Given the description of an element on the screen output the (x, y) to click on. 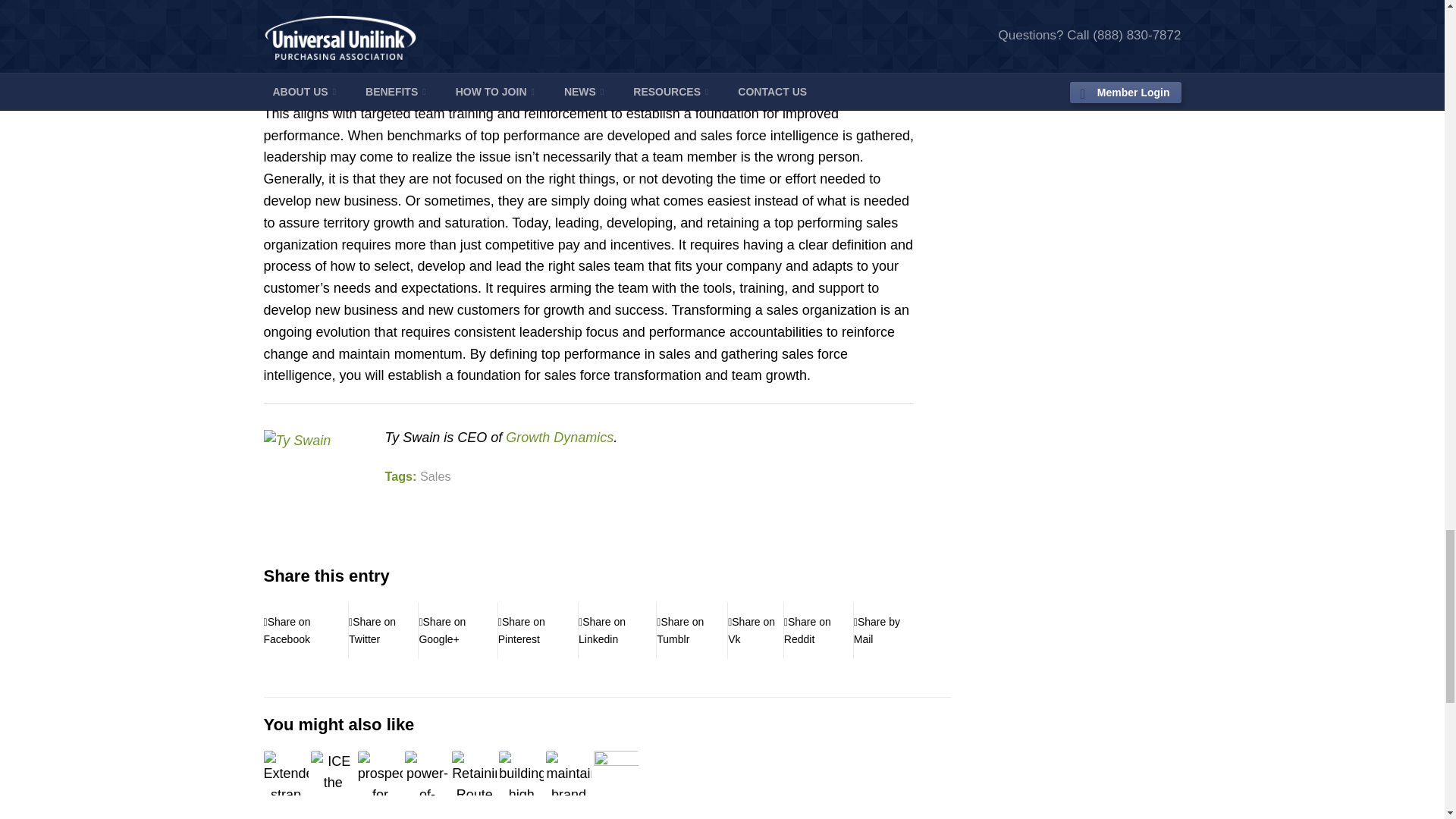
Share on Tumblr (691, 630)
Share on Facebook (306, 630)
Sales (435, 476)
Share on Vk (755, 630)
Growth Dynamics (558, 437)
Share on Linkedin (617, 630)
Share on Twitter (383, 630)
Share on Pinterest (537, 630)
